Given the description of an element on the screen output the (x, y) to click on. 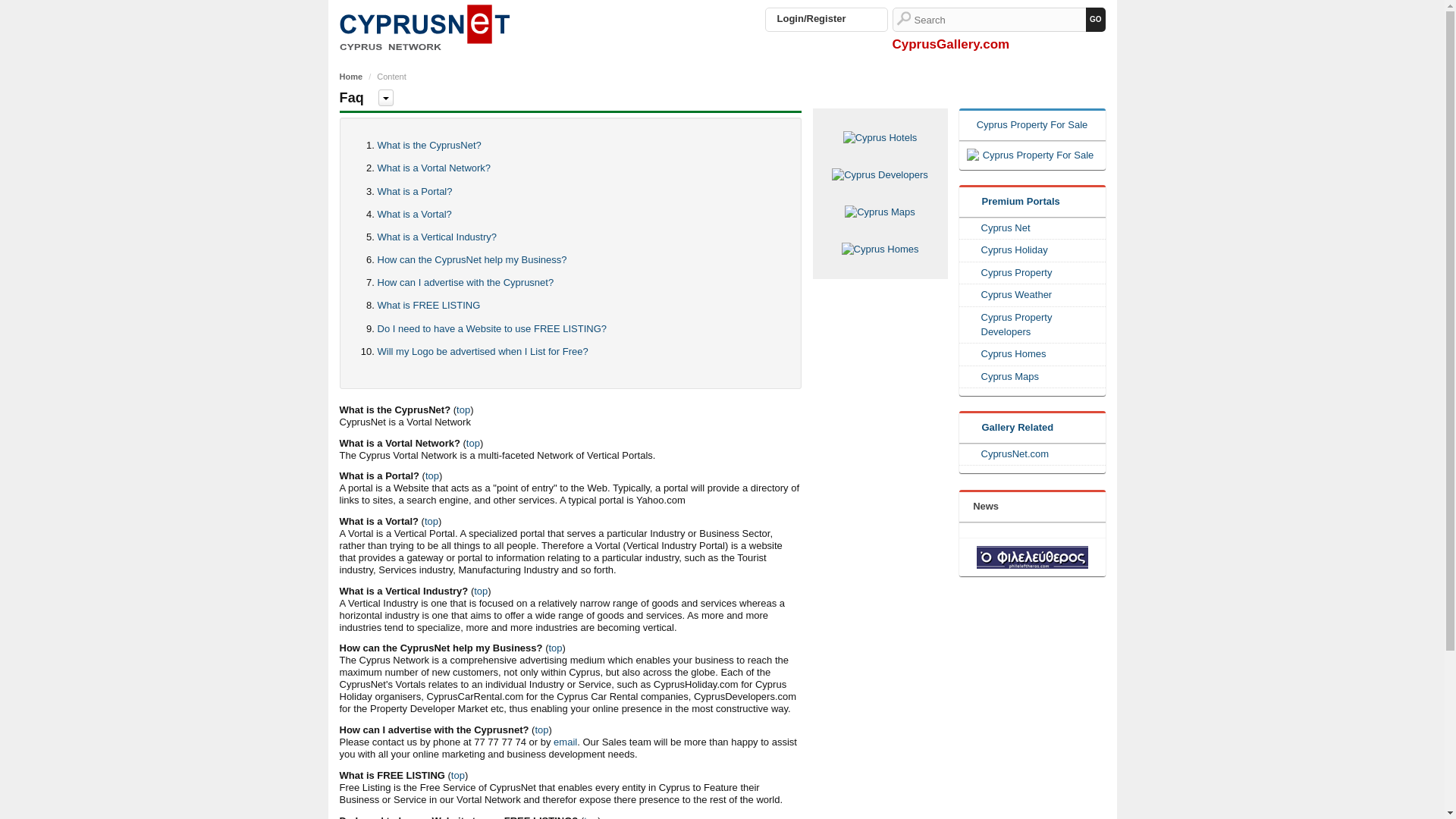
GO (1095, 19)
Cyprus Developers (879, 174)
What is a Vortal? (414, 214)
GO (1095, 19)
Cyprus Holiday (1034, 250)
Cyprus Gallery (424, 26)
Cyprus Homes (1034, 354)
Cyprus Property (1034, 273)
top (555, 647)
Will my Logo be advertised when I List for Free? (482, 351)
What is FREE LISTING (428, 305)
What is the CyprusNet? (429, 144)
Do I need to have a Website to use FREE LISTING? (492, 328)
Cyprus Property Developers (1034, 325)
What is a Portal? (414, 191)
